Given the description of an element on the screen output the (x, y) to click on. 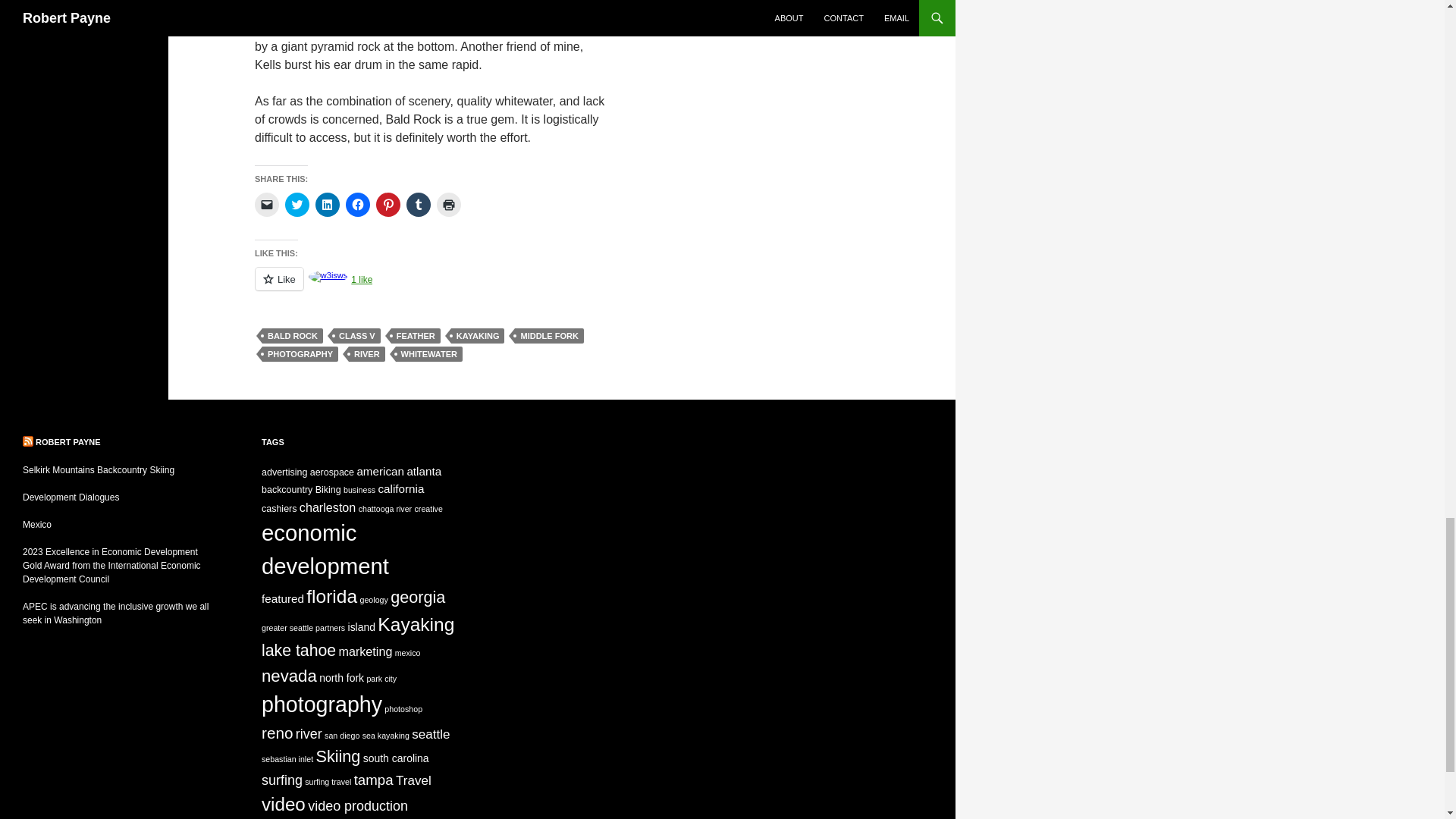
Click to email a link to a friend (266, 204)
Click to share on Pinterest (387, 204)
Click to share on Facebook (357, 204)
KAYAKING (478, 335)
MIDDLE FORK (549, 335)
Click to share on Twitter (296, 204)
ROBERT PAYNE (67, 441)
Click to print (448, 204)
BALD ROCK (292, 335)
RIVER (367, 353)
Like or Reblog (434, 287)
Click to share on LinkedIn (327, 204)
FEATHER (416, 335)
WHITEWATER (429, 353)
CLASS V (356, 335)
